Given the description of an element on the screen output the (x, y) to click on. 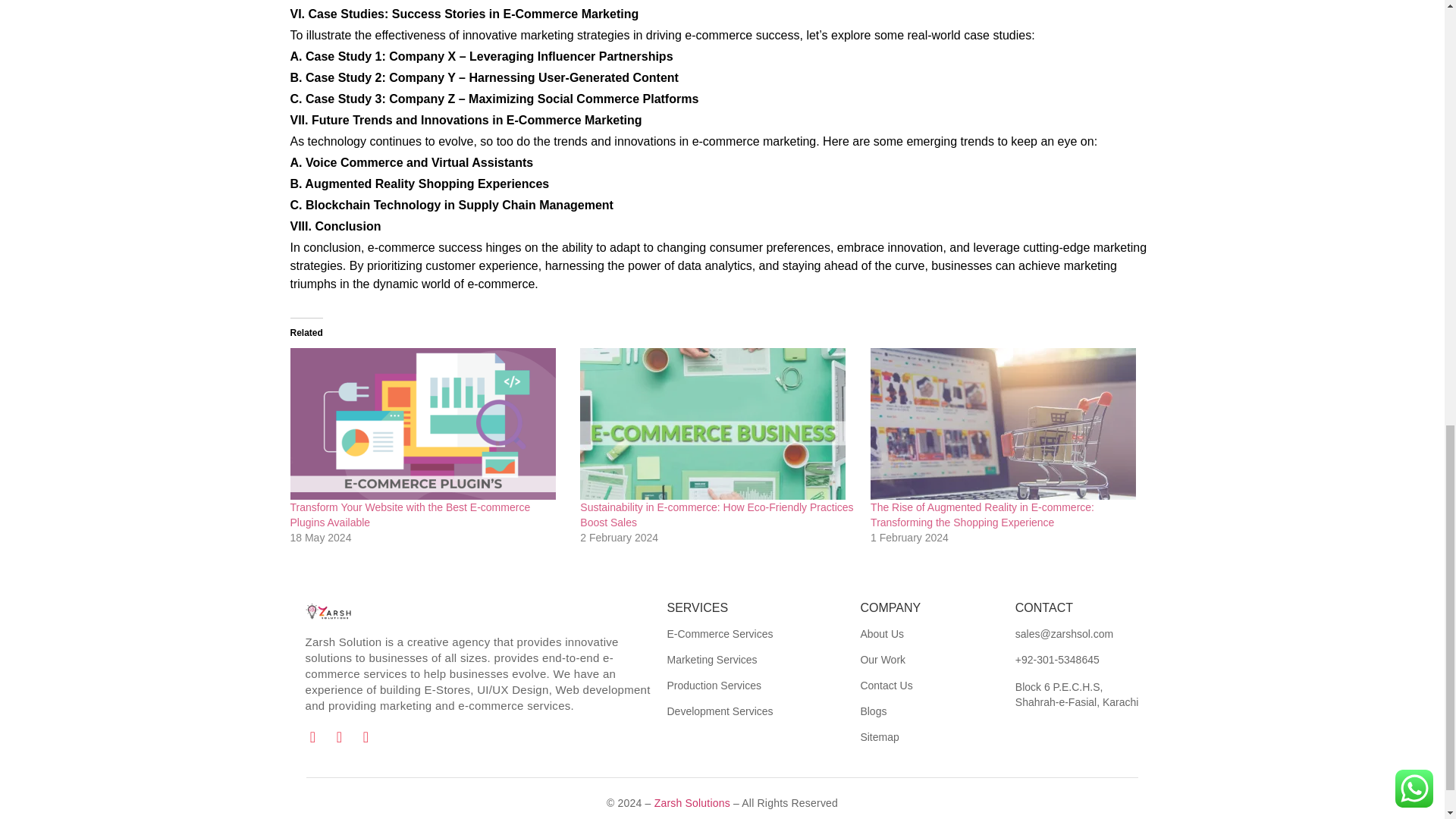
About Us (882, 633)
Marketing Services (711, 659)
Development Services (719, 711)
Production Services (713, 685)
E-Commerce Services (719, 633)
